Given the description of an element on the screen output the (x, y) to click on. 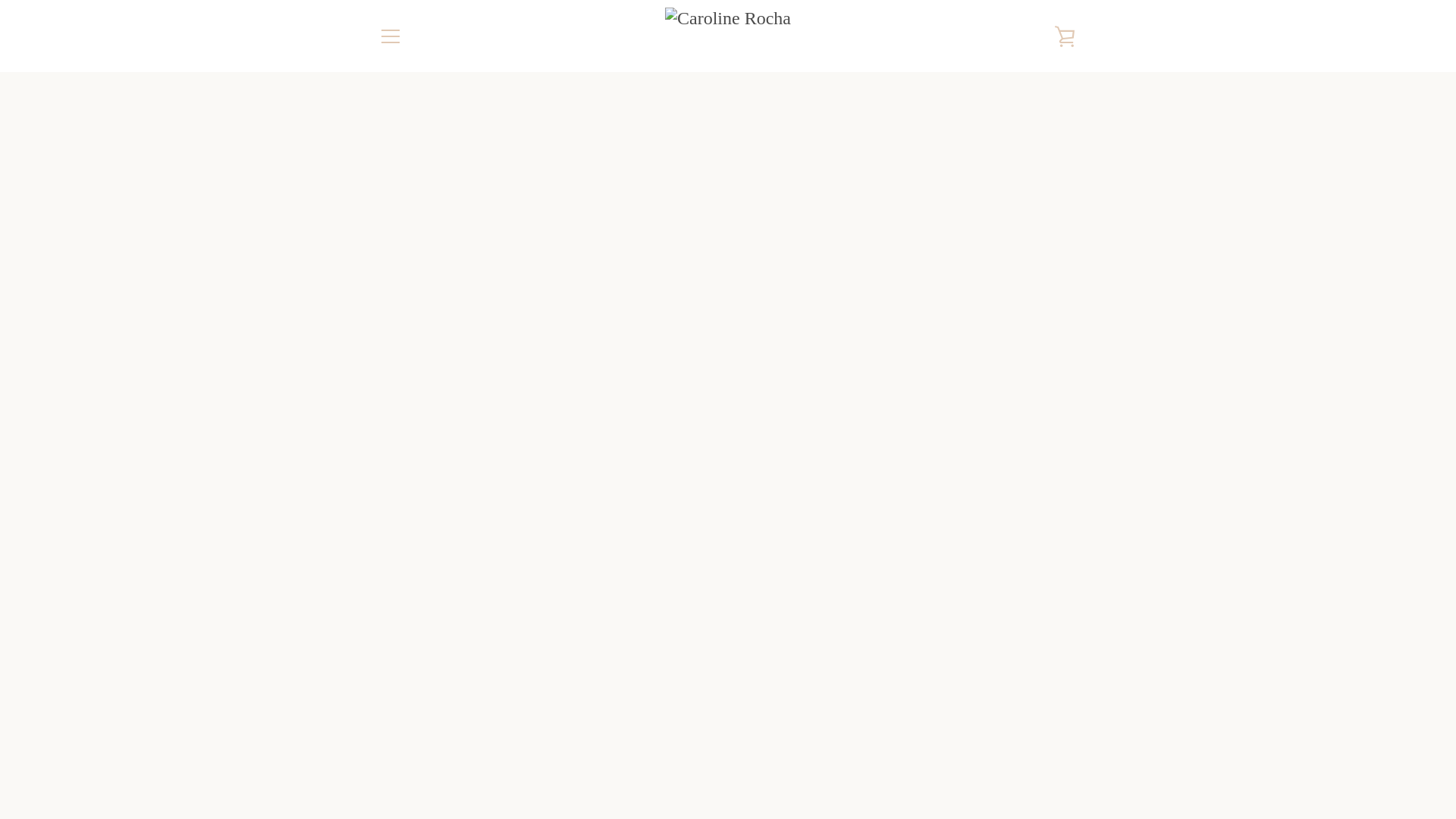
VIEW CART (1065, 35)
EXPAND NAVIGATION (390, 35)
